Given the description of an element on the screen output the (x, y) to click on. 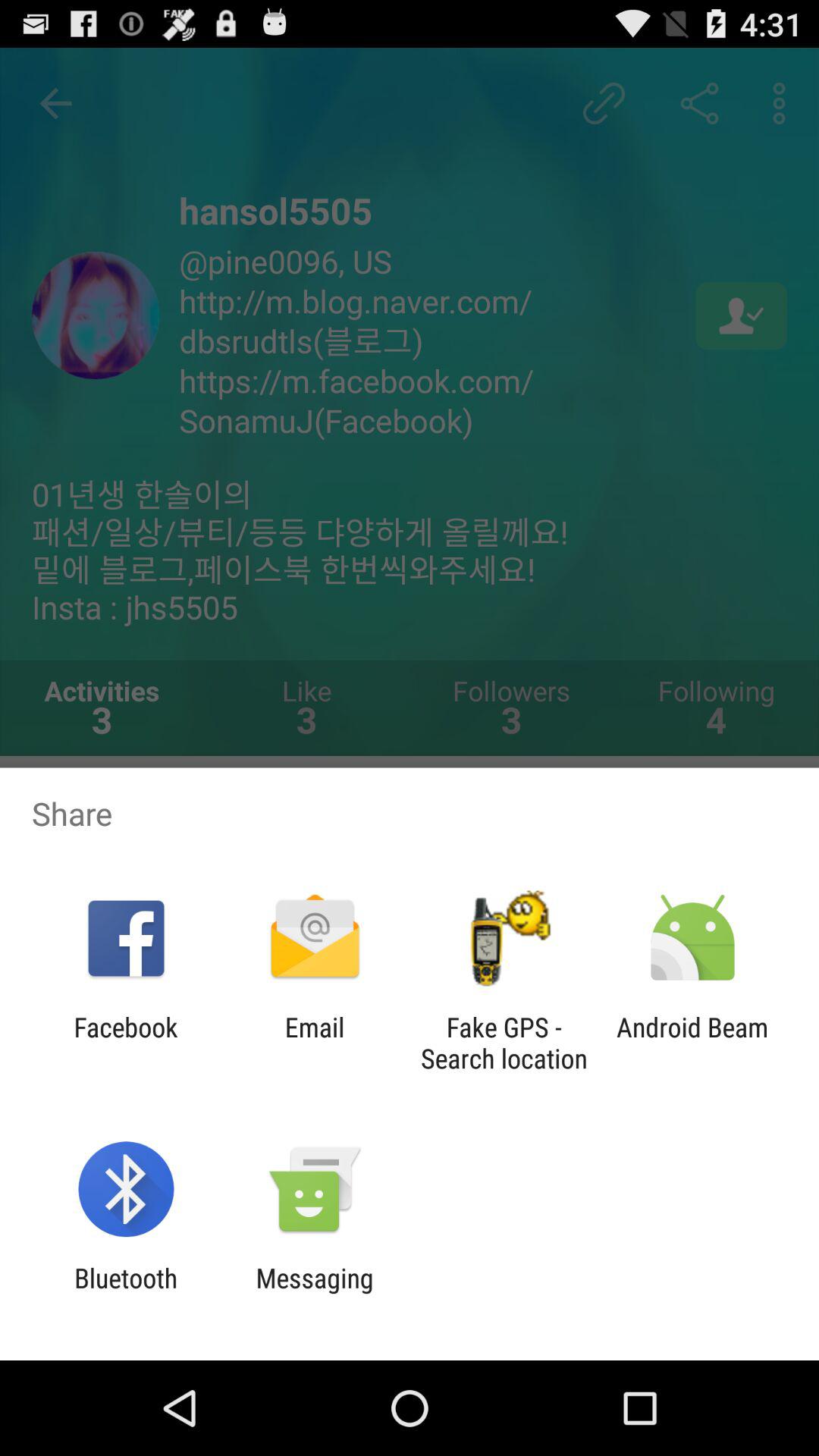
select the android beam (692, 1042)
